Given the description of an element on the screen output the (x, y) to click on. 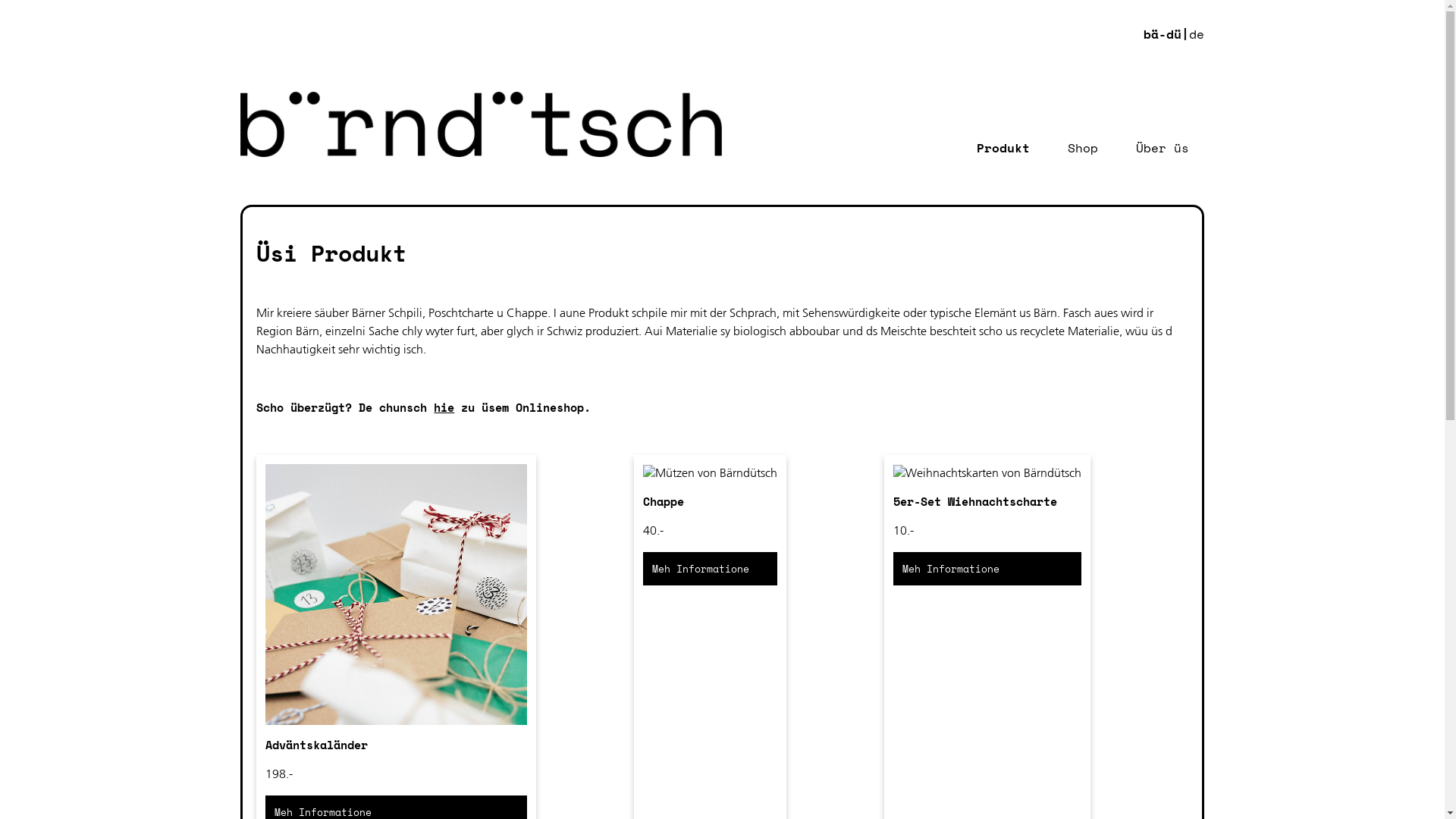
Meh Informatione Element type: text (710, 568)
de Element type: text (1196, 34)
Shop Element type: text (1082, 147)
Meh Informatione Element type: text (987, 568)
Meh Informatione Element type: text (710, 568)
hie Element type: text (443, 406)
Produkt Element type: text (1002, 147)
Meh Informatione Element type: text (987, 568)
